Given the description of an element on the screen output the (x, y) to click on. 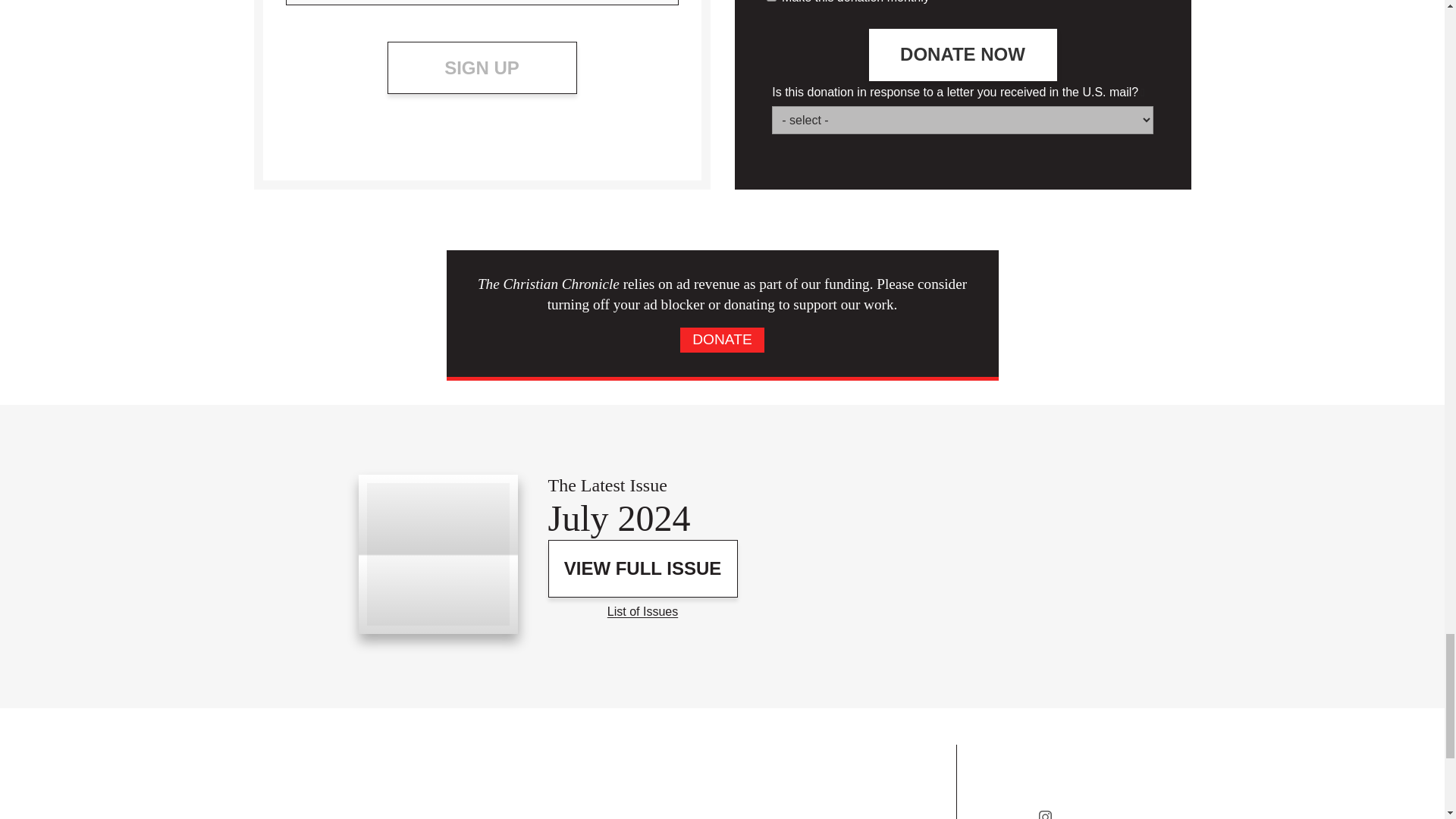
Sign up (481, 68)
